Given the description of an element on the screen output the (x, y) to click on. 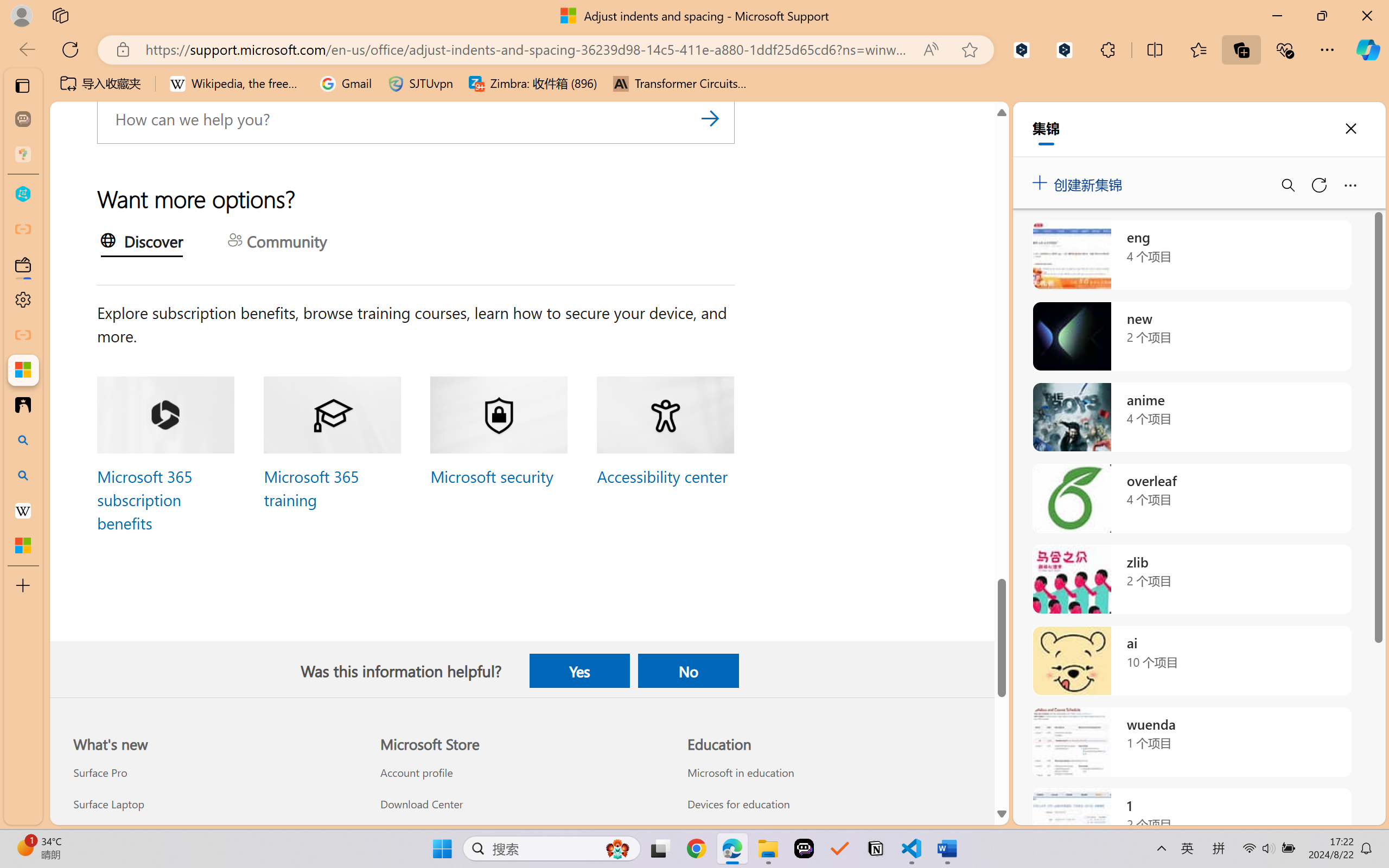
Surface Pro What's new (99, 772)
Wikipedia, the free encyclopedia (236, 83)
Download Center Microsoft Store (420, 803)
Surface Laptop (214, 803)
Account profile (521, 772)
Earth - Wikipedia (22, 510)
